Given the description of an element on the screen output the (x, y) to click on. 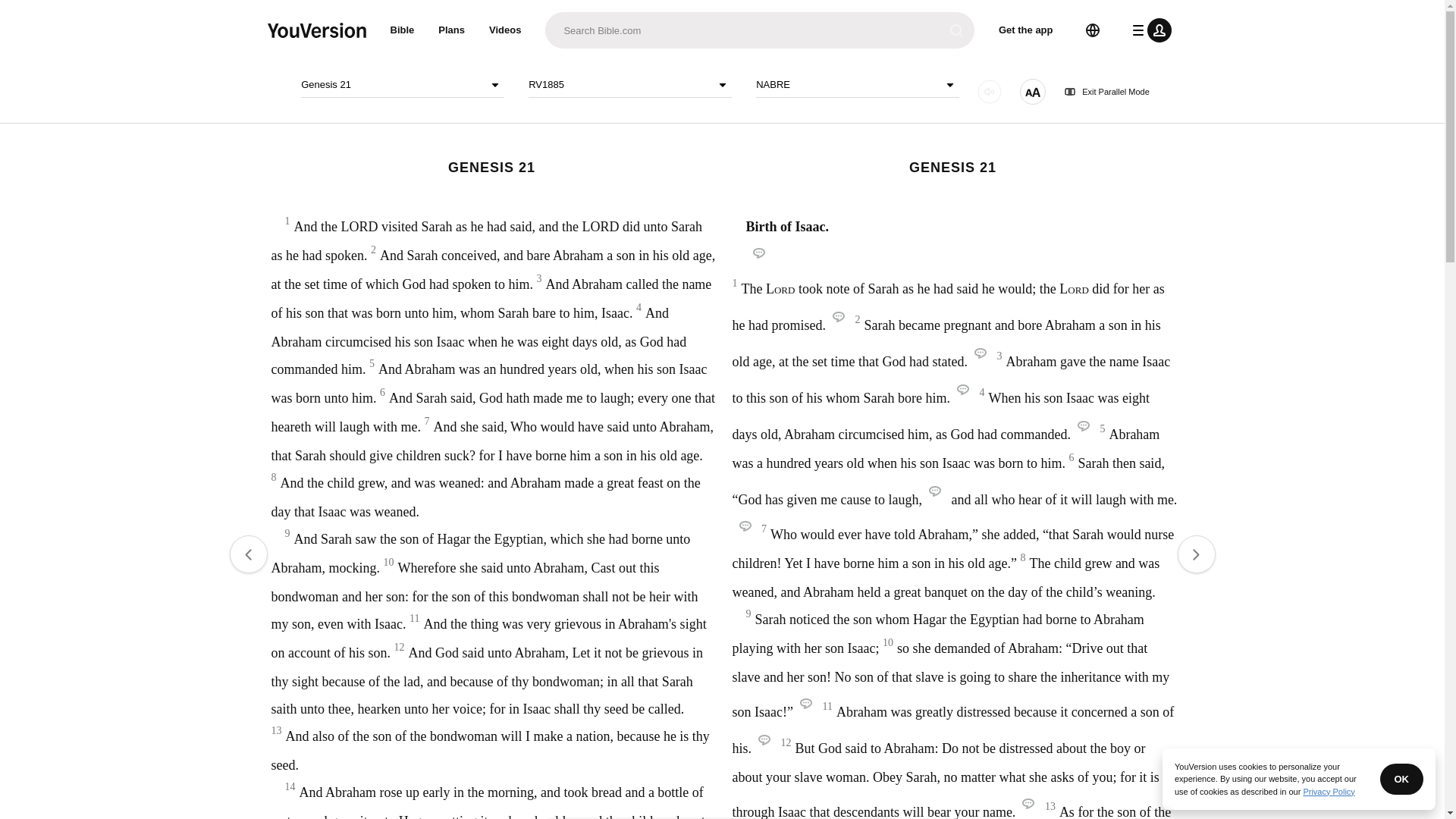
NABRE (857, 84)
Videos (504, 29)
Genesis 21 (402, 84)
Plans (451, 29)
Exit Parallel Mode (1107, 91)
Bible (401, 29)
Get the app (1026, 29)
RV1885 (630, 84)
